Given the description of an element on the screen output the (x, y) to click on. 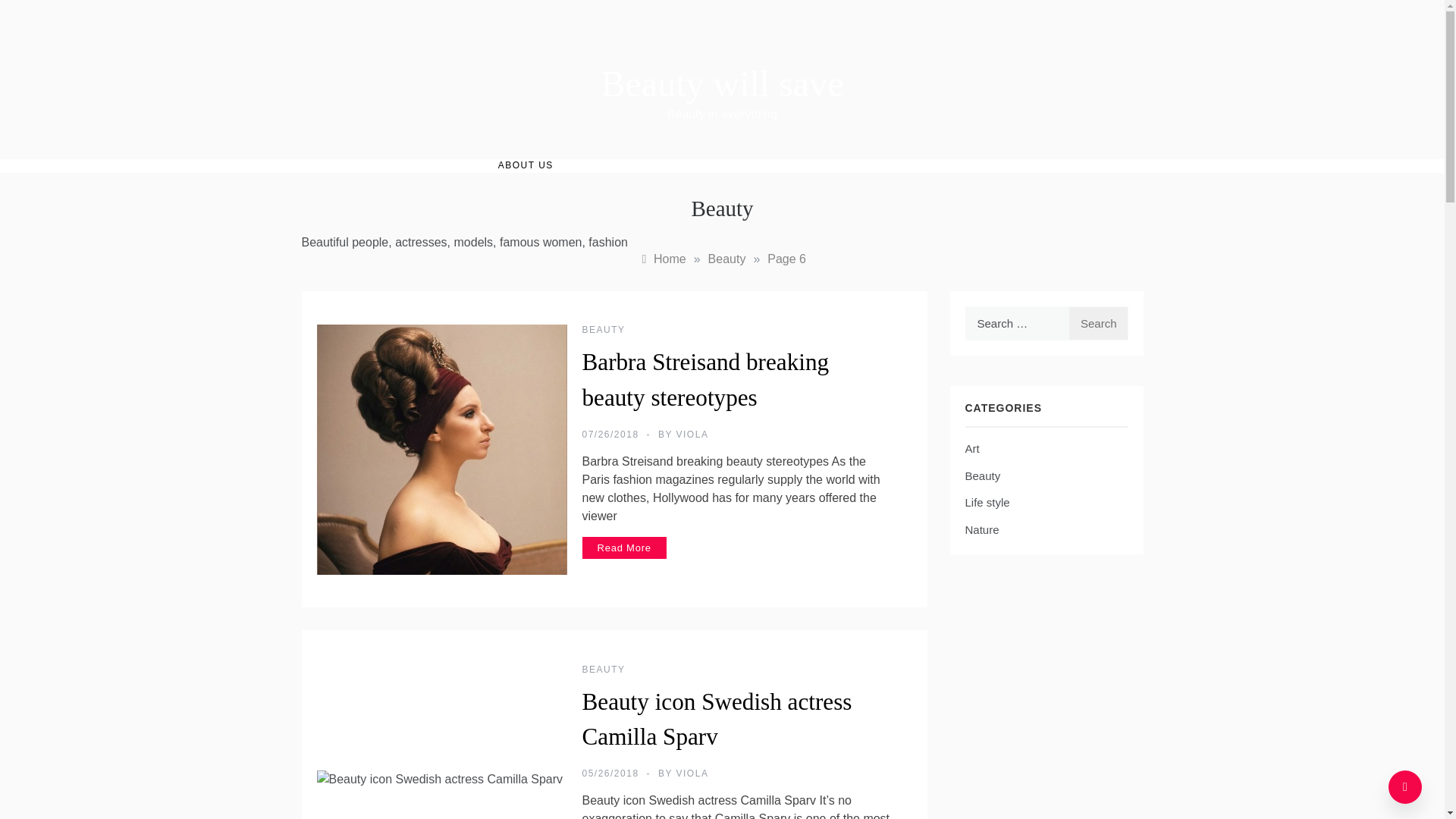
Beauty will save (722, 83)
Barbra Streisand breaking beauty stereotypes (705, 379)
Search (1098, 323)
Beauty (726, 258)
BEAUTY (604, 329)
Page 6 (786, 258)
Search (1098, 323)
Home (662, 258)
VIOLA (693, 434)
VIOLA (693, 773)
Go to Top (1405, 786)
Read More (624, 548)
Beauty icon Swedish actress Camilla Sparv (716, 719)
ABOUT US (525, 164)
BEAUTY (604, 669)
